Given the description of an element on the screen output the (x, y) to click on. 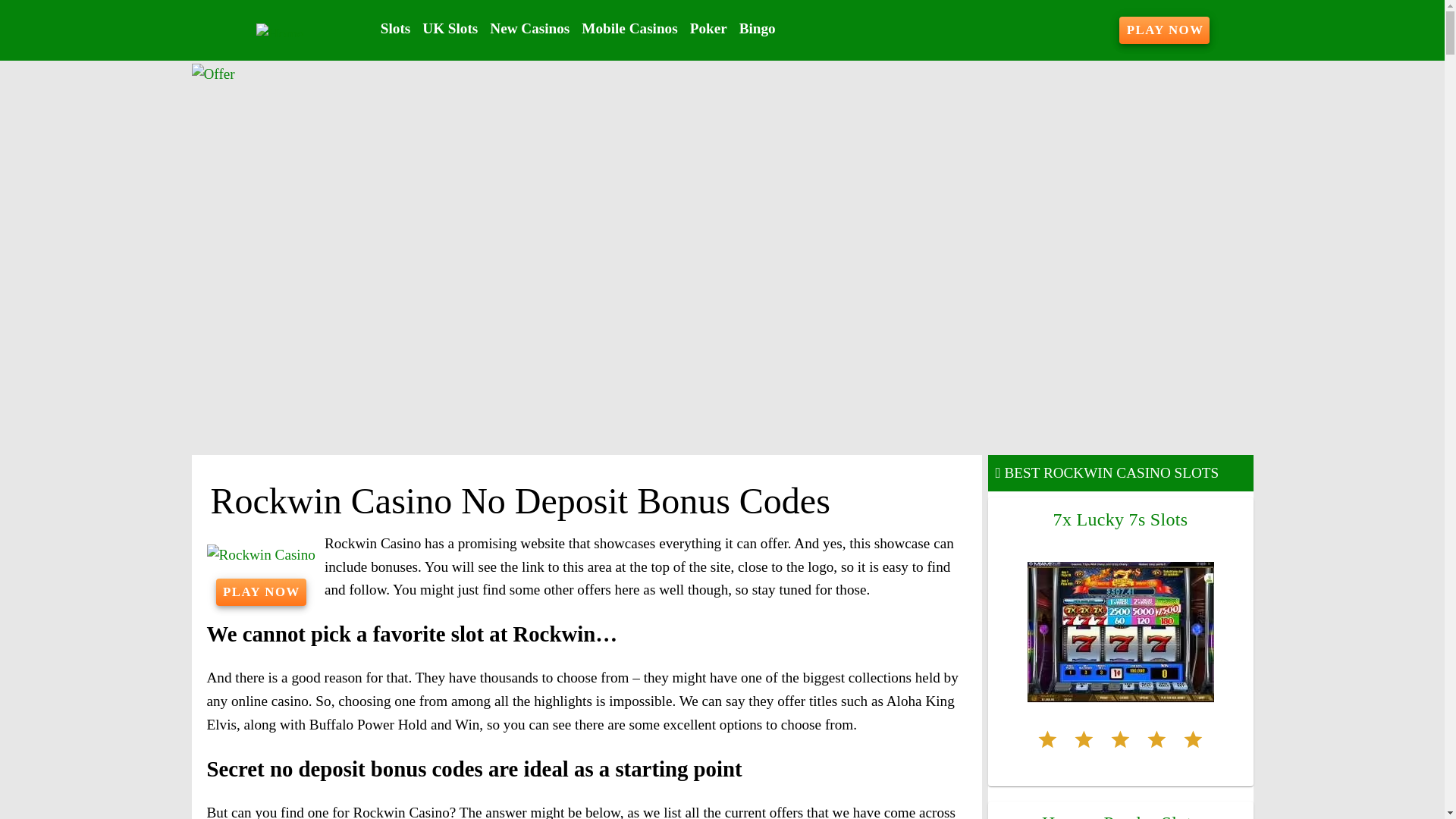
PLAY NOW (260, 592)
New Casinos (529, 28)
Bingo (757, 28)
Slots (395, 28)
Poker (708, 28)
PLAY NOW (1164, 30)
UK Slots (449, 28)
Mobile Casinos (628, 28)
